Given the description of an element on the screen output the (x, y) to click on. 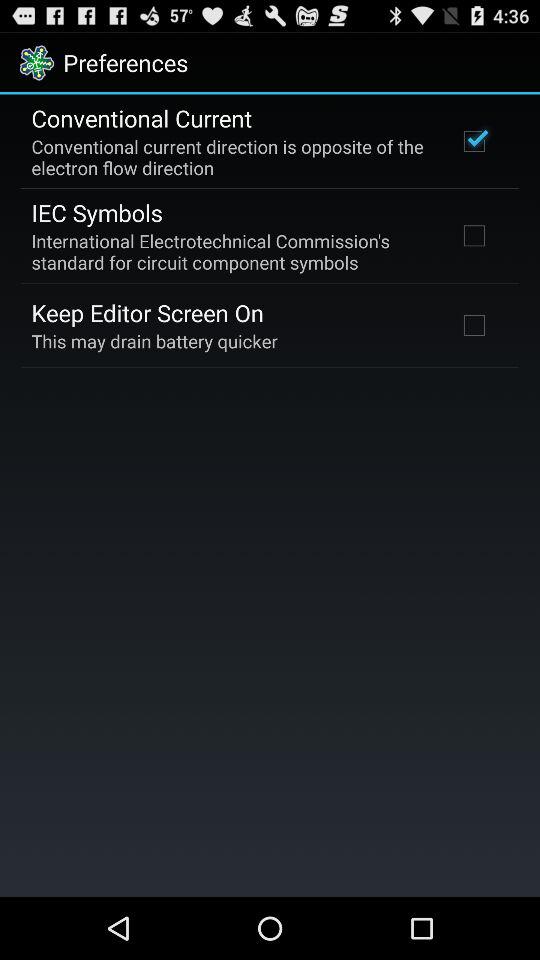
launch the this may drain (154, 340)
